Given the description of an element on the screen output the (x, y) to click on. 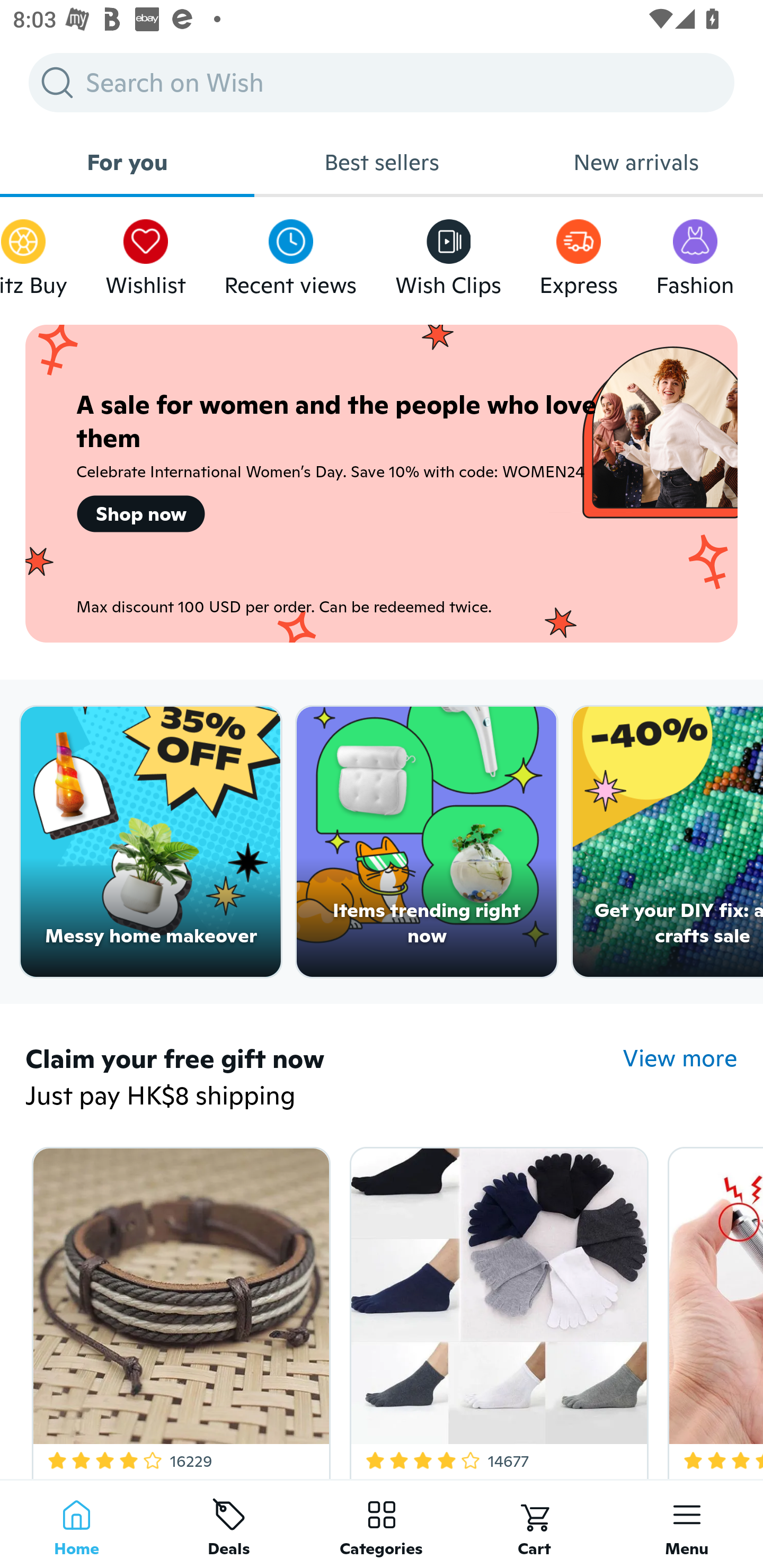
Search on Wish (381, 82)
For you (127, 161)
Best sellers (381, 161)
New arrivals (635, 161)
Blitz Buy (33, 252)
Wishlist (145, 252)
Recent views (290, 252)
Wish Clips (448, 252)
Express (578, 252)
Fashion (695, 252)
Messy home makeover (150, 841)
Items trending right now (426, 841)
Get your DIY fix: arts & crafts sale (668, 841)
Claim your free gift now
Just pay HK$8 shipping (323, 1078)
View more (679, 1058)
3.8 Star Rating 16229 Free (177, 1308)
4.2 Star Rating 14677 Free (495, 1308)
Home (76, 1523)
Deals (228, 1523)
Categories (381, 1523)
Cart (533, 1523)
Menu (686, 1523)
